Given the description of an element on the screen output the (x, y) to click on. 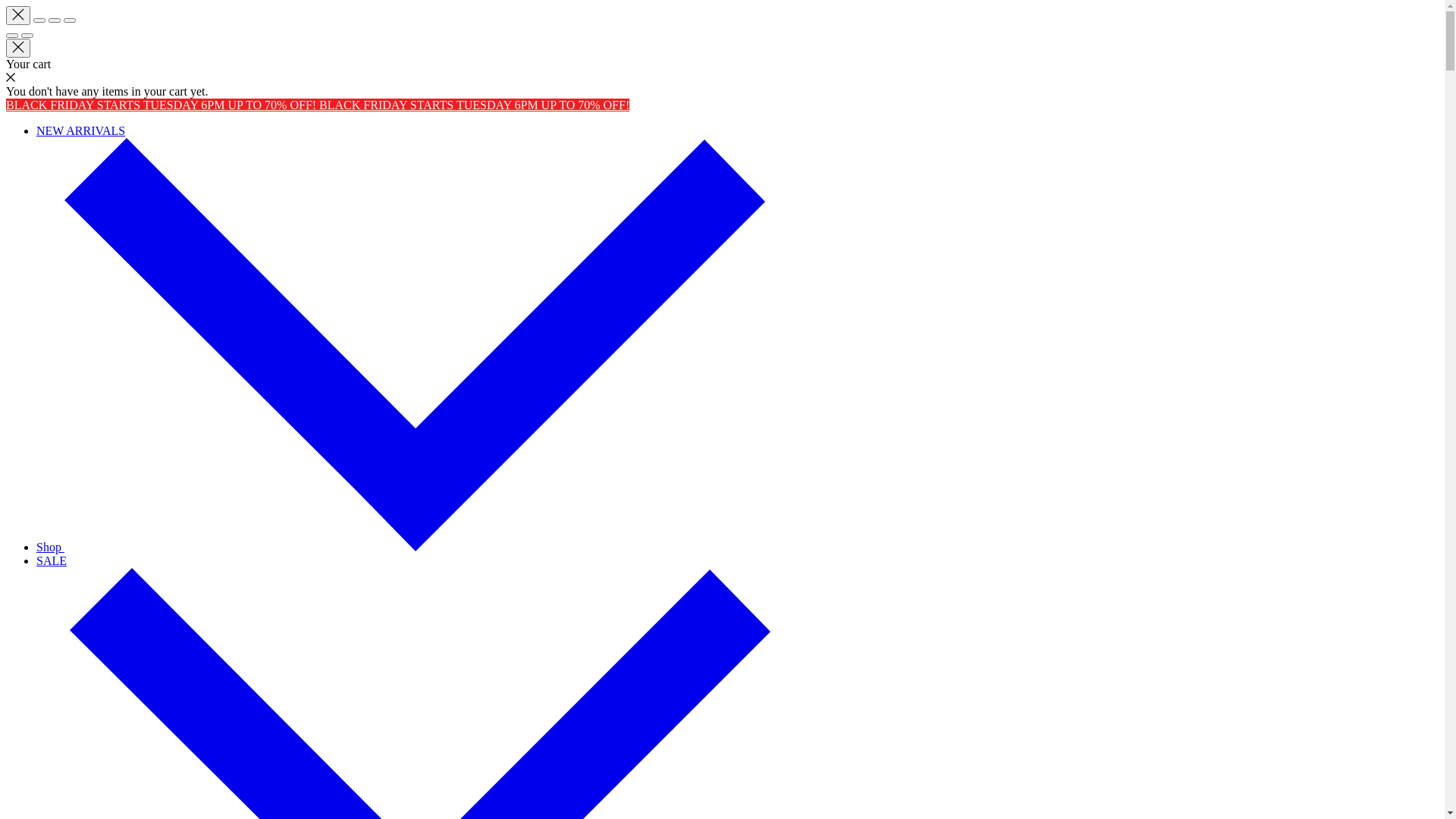
SALE Element type: text (51, 560)
Toggle fullscreen Element type: hover (54, 20)
Next (arrow right) Element type: hover (27, 35)
Zoom in/out Element type: hover (69, 20)
Share Element type: hover (39, 20)
Shop Element type: text (400, 546)
Previous (arrow left) Element type: hover (12, 35)
Close Element type: hover (18, 15)
NEW ARRIVALS Element type: text (80, 130)
